Given the description of an element on the screen output the (x, y) to click on. 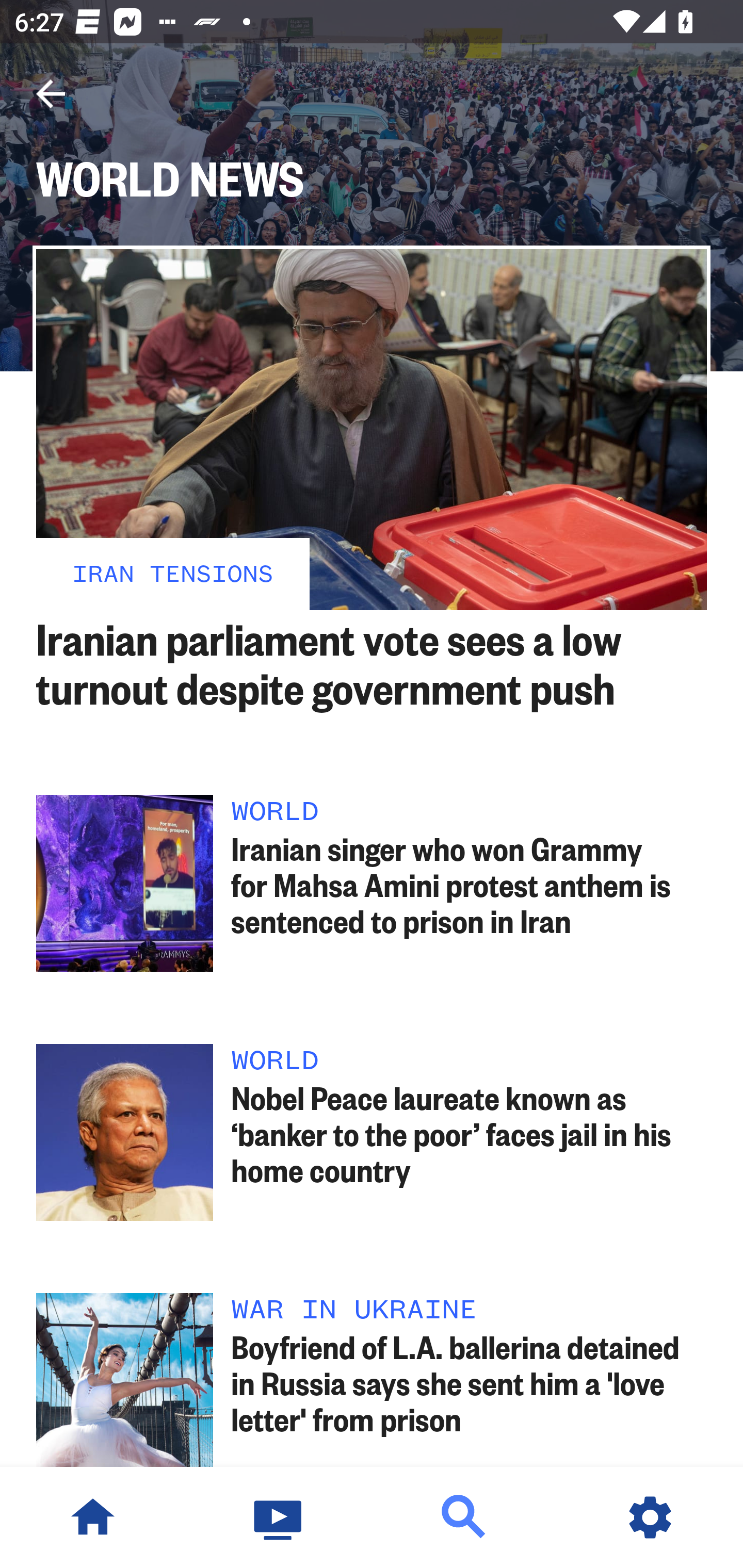
Navigate up (50, 93)
NBC News Home (92, 1517)
Watch (278, 1517)
Settings (650, 1517)
